Given the description of an element on the screen output the (x, y) to click on. 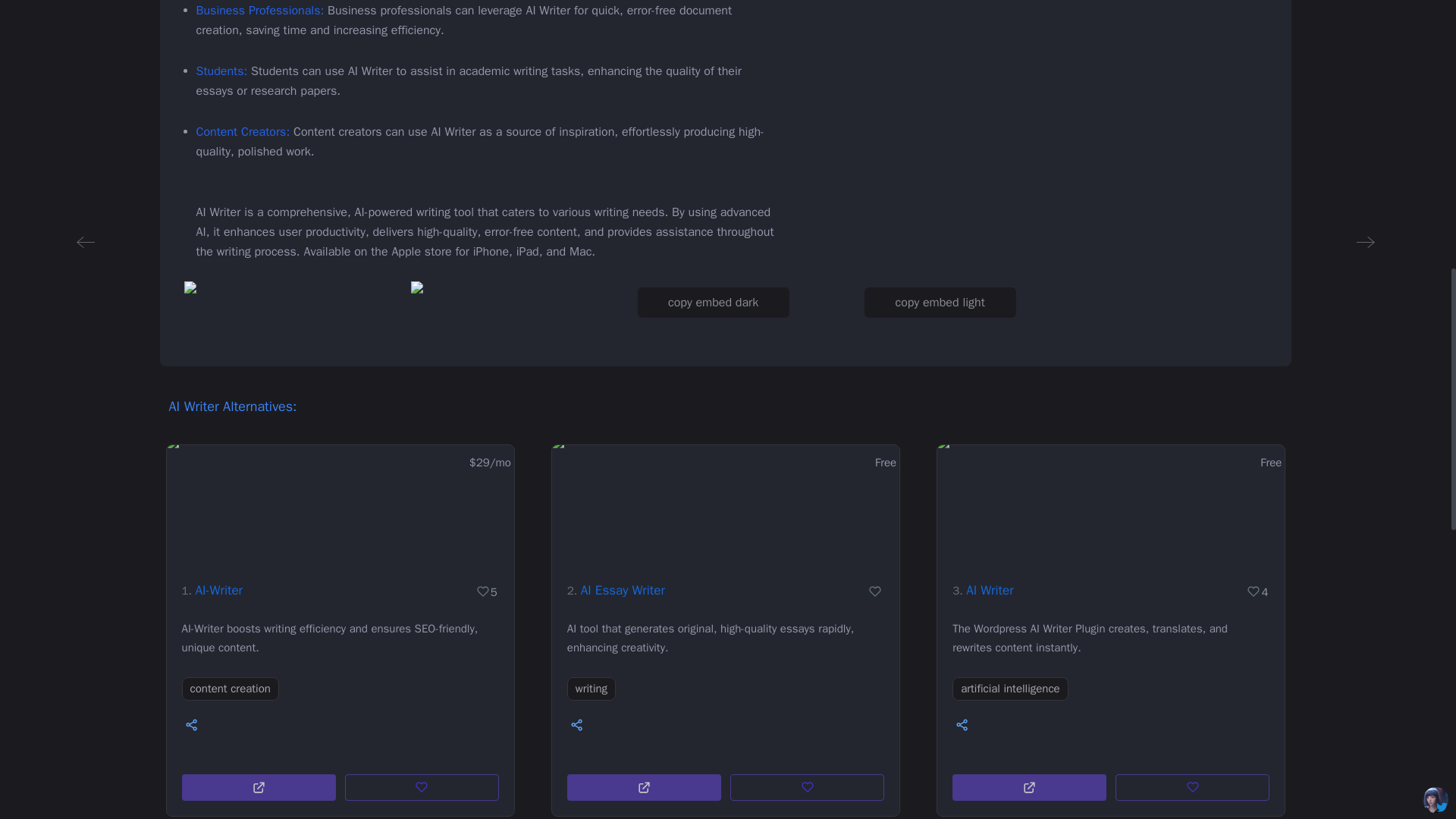
AI-Writer (219, 590)
Free (1110, 503)
visit AI Essay Writer (643, 786)
AI Writer (989, 590)
visit AI Writer (1029, 786)
AI Essay Writer (622, 590)
visit AI-Writer (259, 786)
Free (725, 503)
copy embed light (940, 302)
copy embed dark (713, 302)
